Given the description of an element on the screen output the (x, y) to click on. 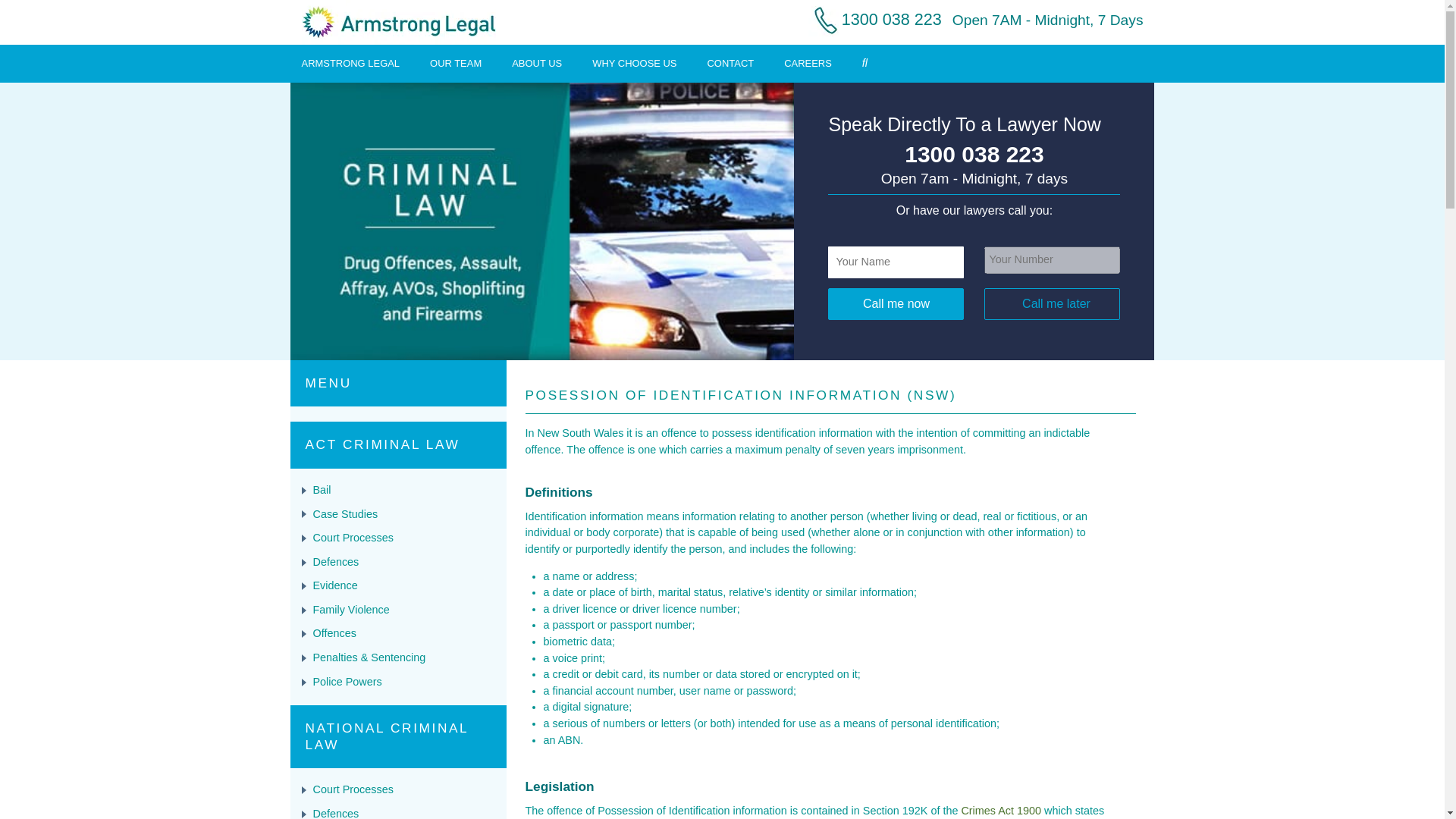
CAREERS (807, 62)
ARMSTRONG LEGAL (350, 62)
Bail (321, 490)
CONTACT (730, 62)
Call me now (895, 304)
OUR TEAM (455, 62)
Case Studies (345, 513)
1300 038 223 Open 7AM - Midnight, 7 Days (970, 19)
1300 038 223 (973, 154)
Call me now (895, 304)
Court Processes (353, 537)
ABOUT US (537, 62)
Call me later (1051, 304)
WHY CHOOSE US (634, 62)
